Given the description of an element on the screen output the (x, y) to click on. 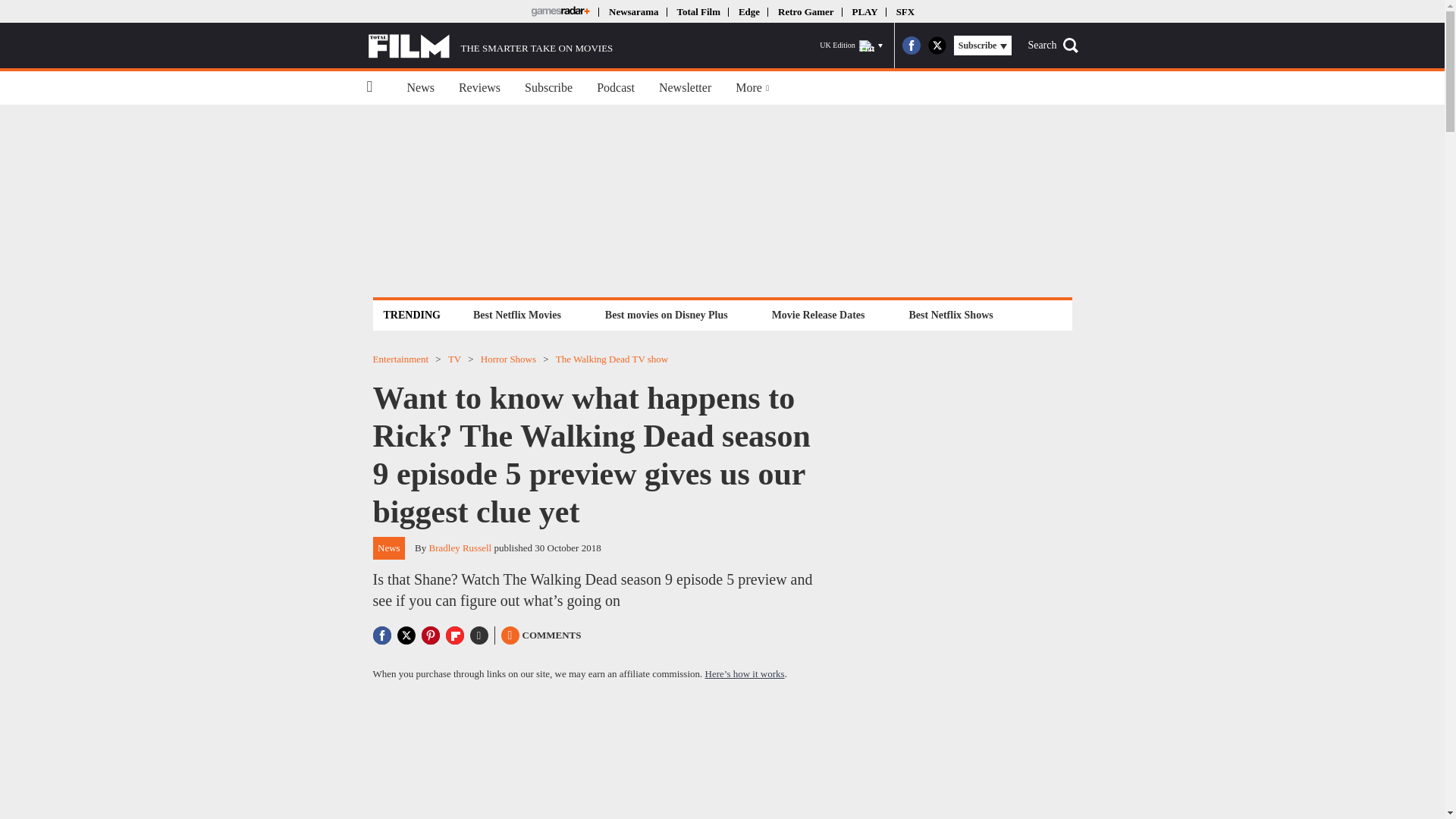
Edge (749, 11)
Subscribe (548, 87)
News (419, 87)
Retro Gamer (805, 11)
UK Edition (850, 45)
Reviews (479, 87)
SFX (905, 11)
Total Film (698, 11)
Best movies on Disney Plus (666, 314)
Newsletter (684, 87)
